Given the description of an element on the screen output the (x, y) to click on. 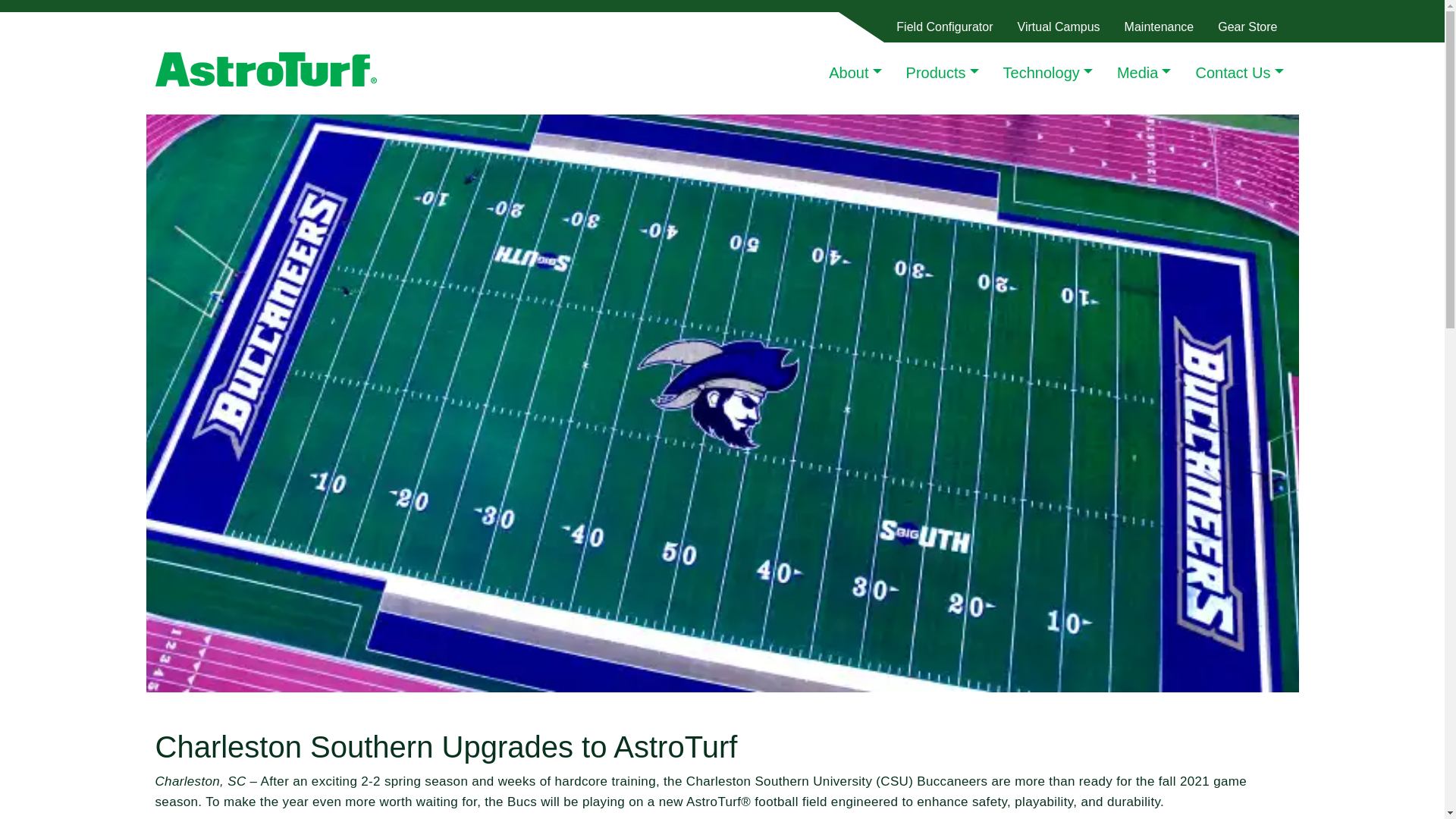
Gear Store (1246, 27)
Field Configurator (943, 27)
Maintenance (1159, 27)
Virtual Campus (1059, 27)
